Given the description of an element on the screen output the (x, y) to click on. 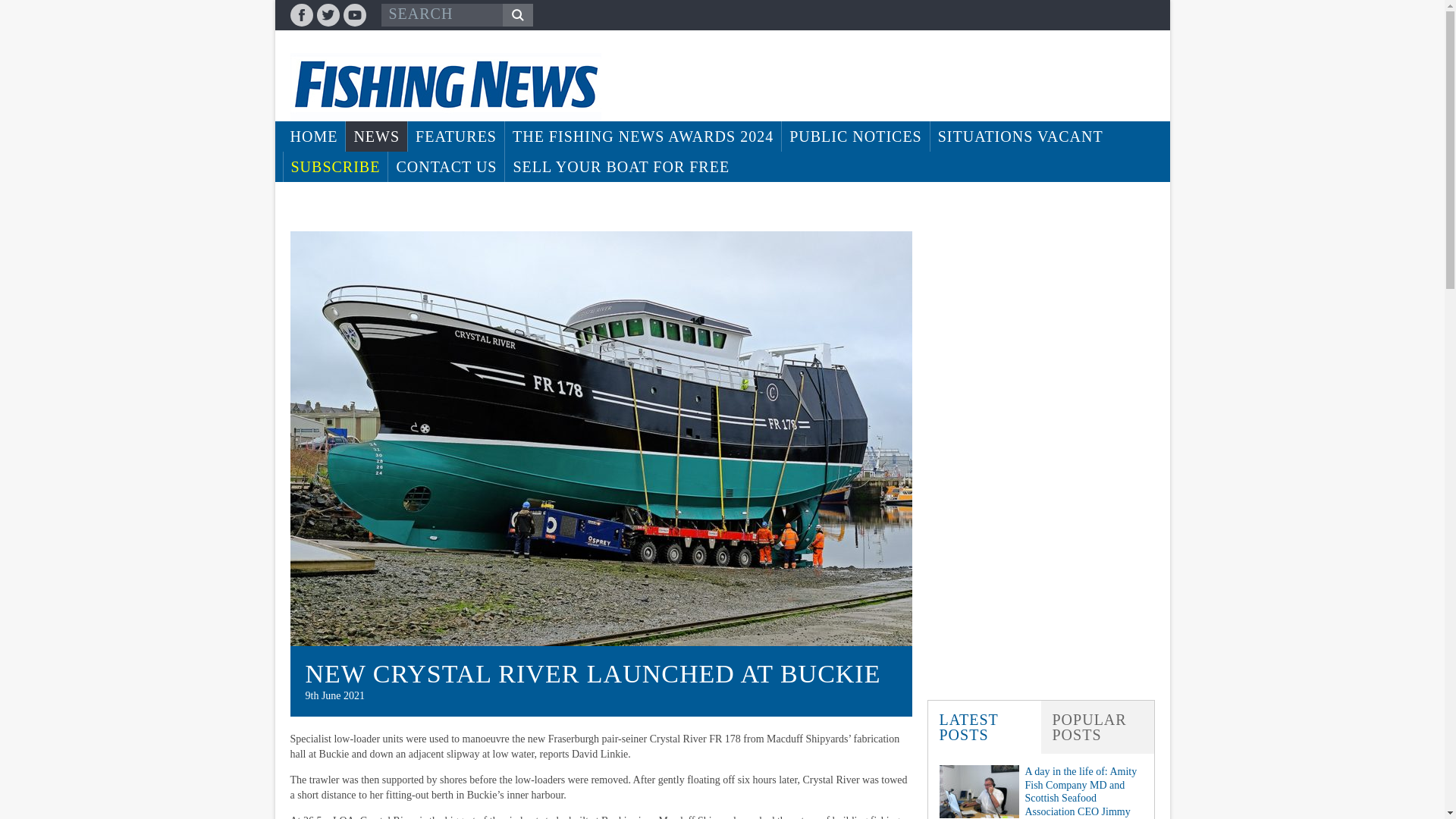
THE FISHING NEWS AWARDS 2024 (642, 136)
SITUATIONS VACANT (1020, 136)
POPULAR POSTS (1097, 727)
PUBLIC NOTICES (855, 136)
Search (517, 15)
NEWS (376, 136)
LATEST POSTS (984, 727)
YouTube (353, 15)
Facebook (301, 15)
SUBSCRIBE (335, 166)
